Given the description of an element on the screen output the (x, y) to click on. 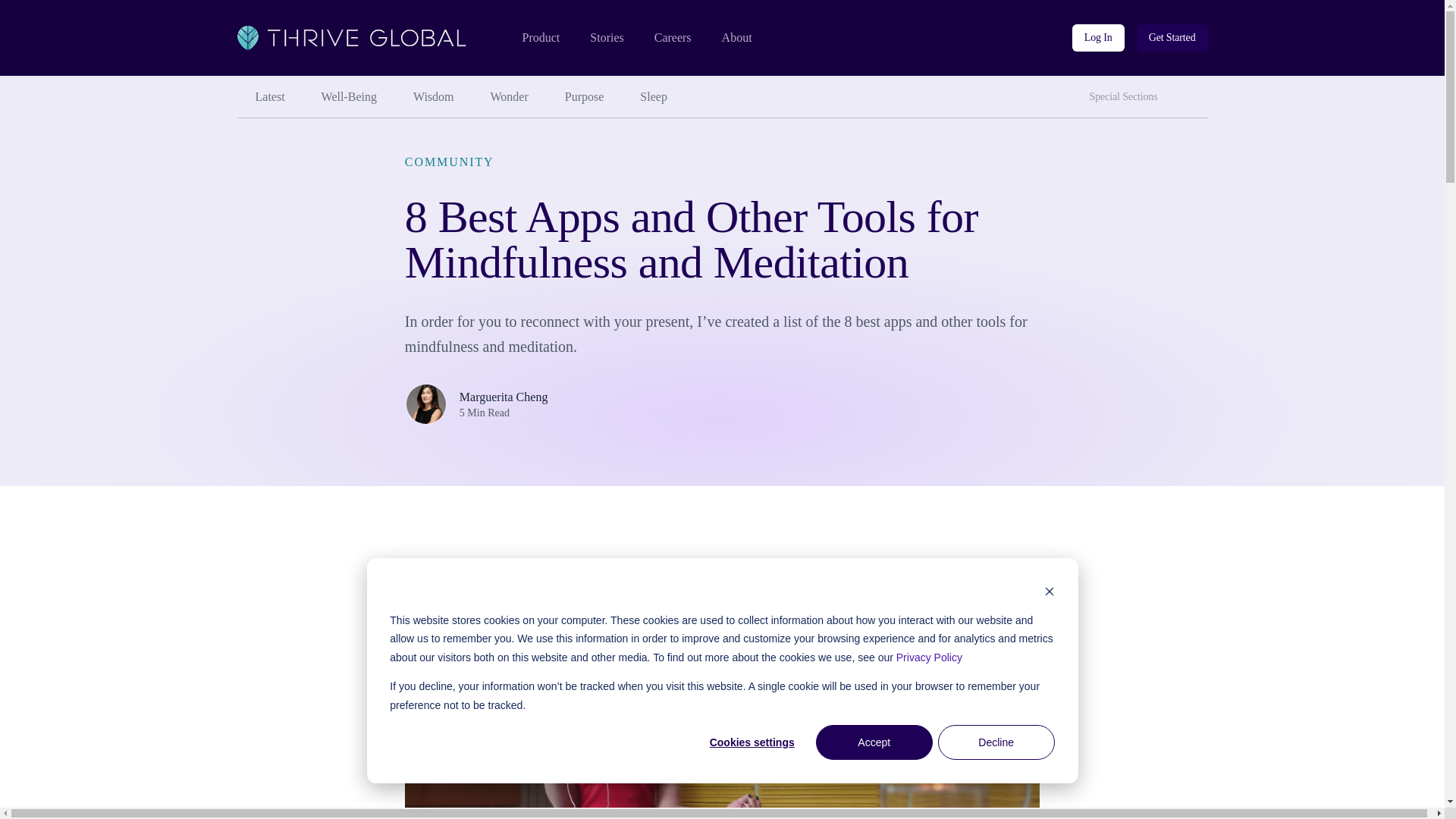
Wonder (509, 96)
Latest (268, 96)
Product (540, 37)
Purpose (585, 96)
Log In (1097, 37)
Careers (672, 37)
About (737, 37)
Well-Being (348, 96)
Stories (606, 37)
Search site (1193, 91)
Get Started (1172, 37)
Special Sections (1126, 97)
Sleep (653, 96)
Wisdom (432, 96)
